Given the description of an element on the screen output the (x, y) to click on. 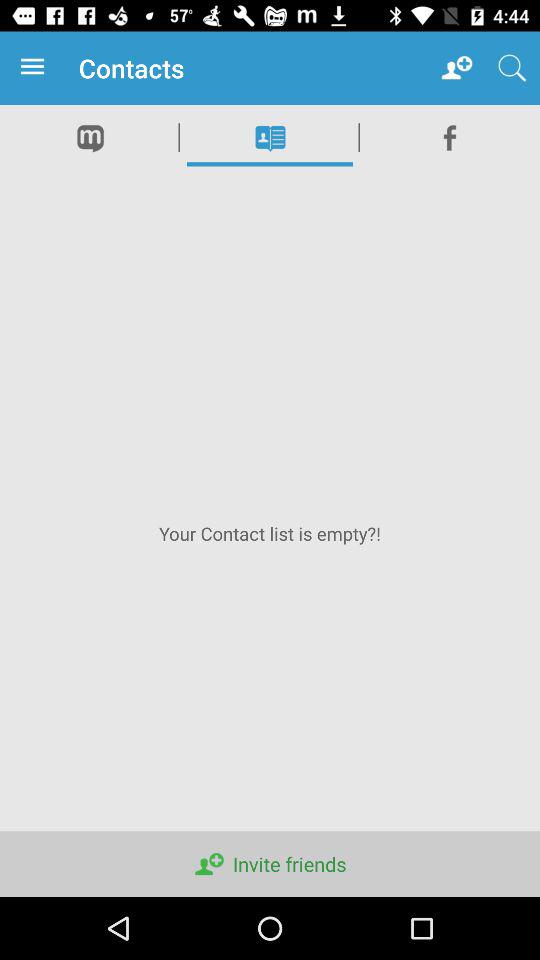
click icon next to the contacts app (36, 68)
